Given the description of an element on the screen output the (x, y) to click on. 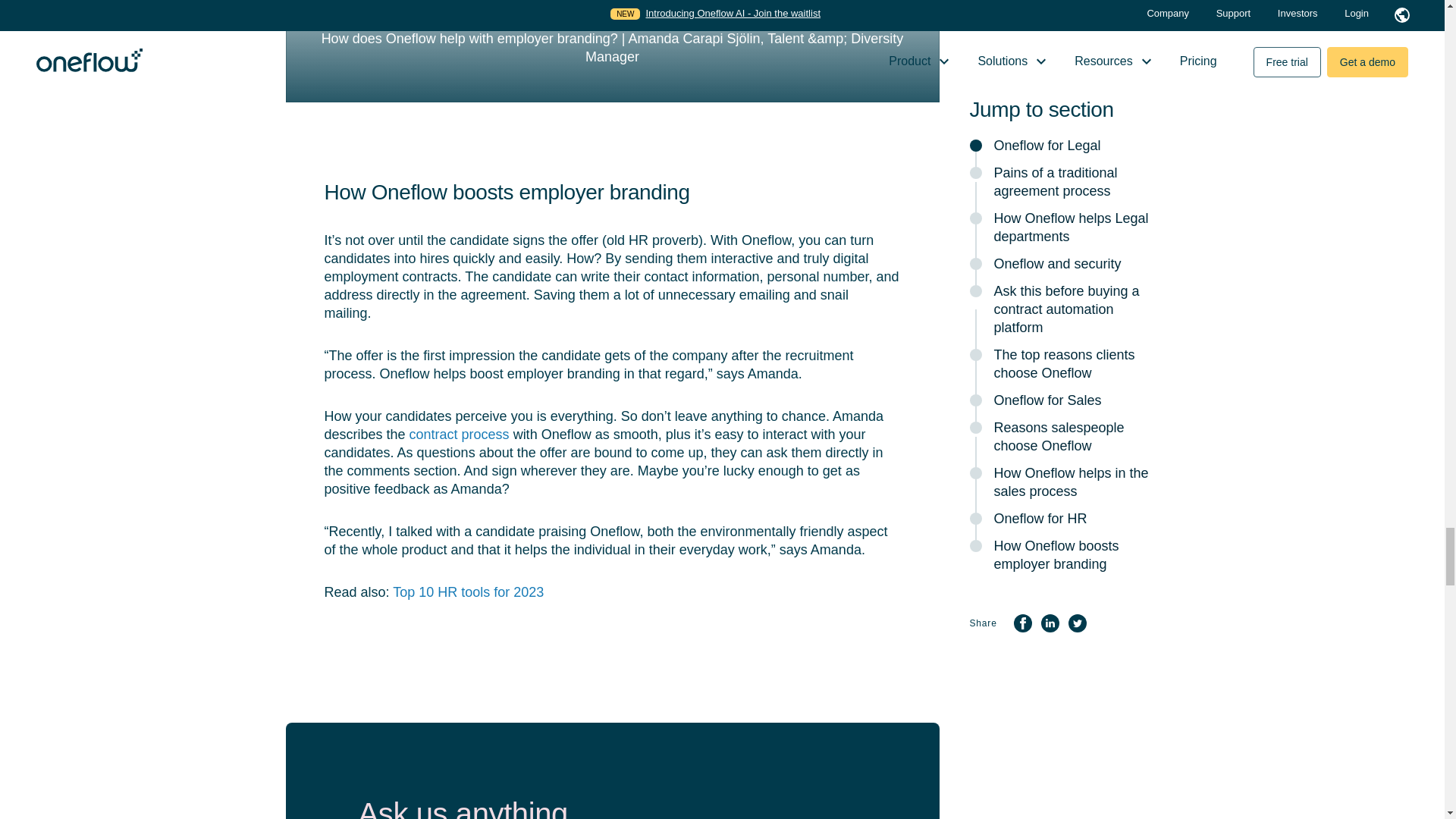
Oneflow for HR (612, 51)
